Given the description of an element on the screen output the (x, y) to click on. 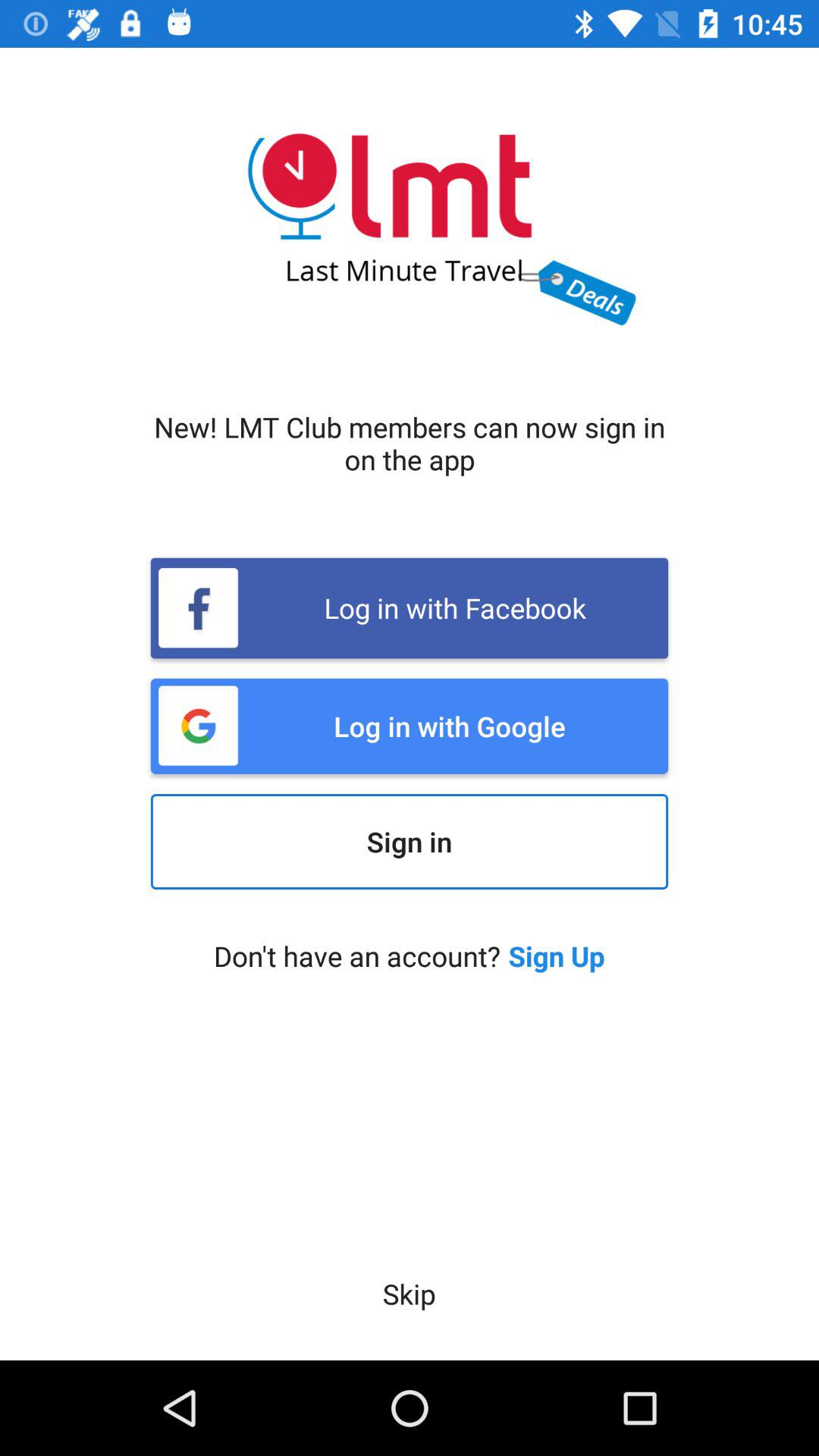
open sign up icon (556, 955)
